Given the description of an element on the screen output the (x, y) to click on. 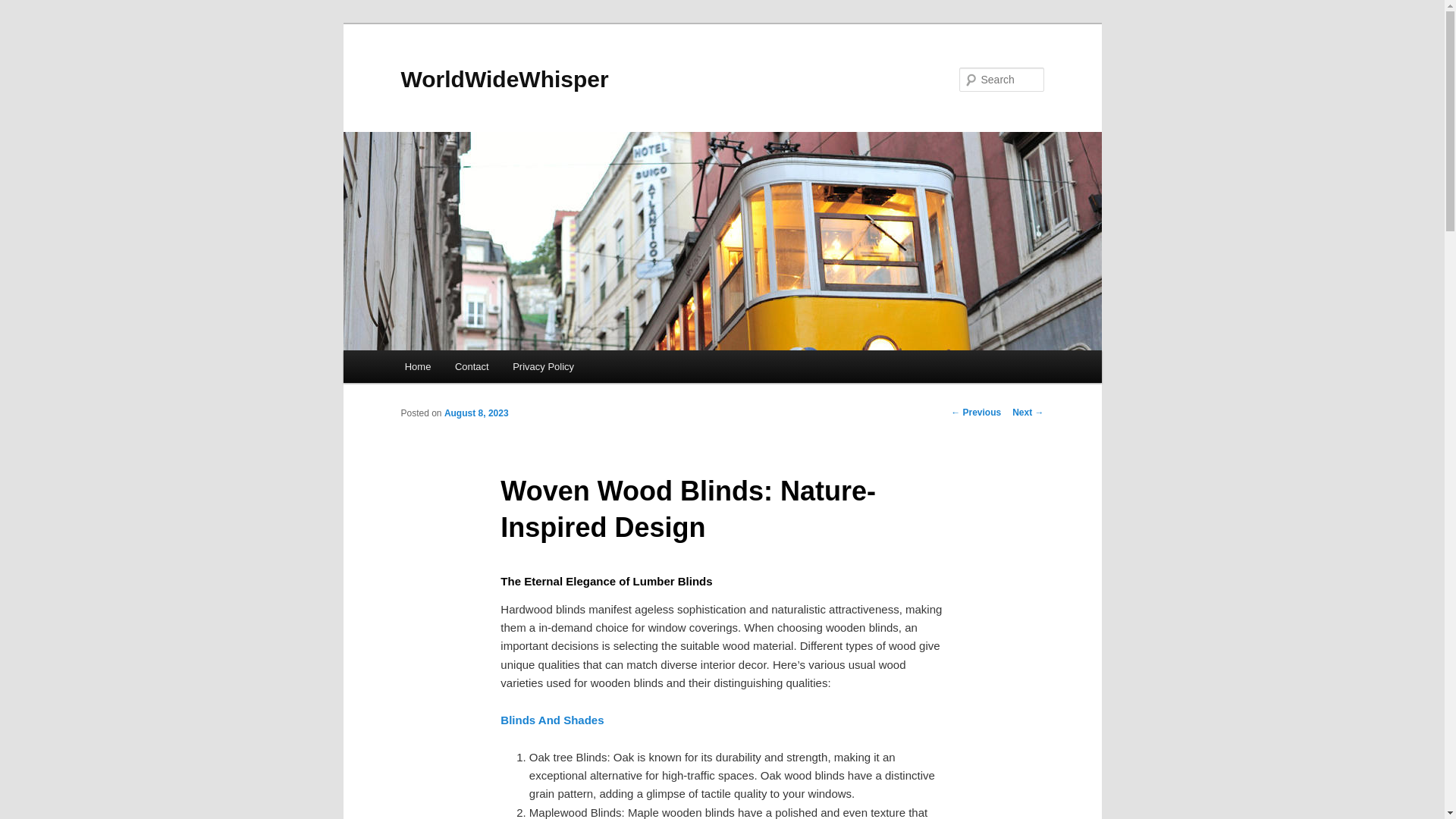
WorldWideWhisper (504, 78)
Home (417, 366)
Blinds And Shades (552, 719)
Contact (471, 366)
August 8, 2023 (476, 412)
Search (24, 8)
1:46 pm (476, 412)
Privacy Policy (542, 366)
